Given the description of an element on the screen output the (x, y) to click on. 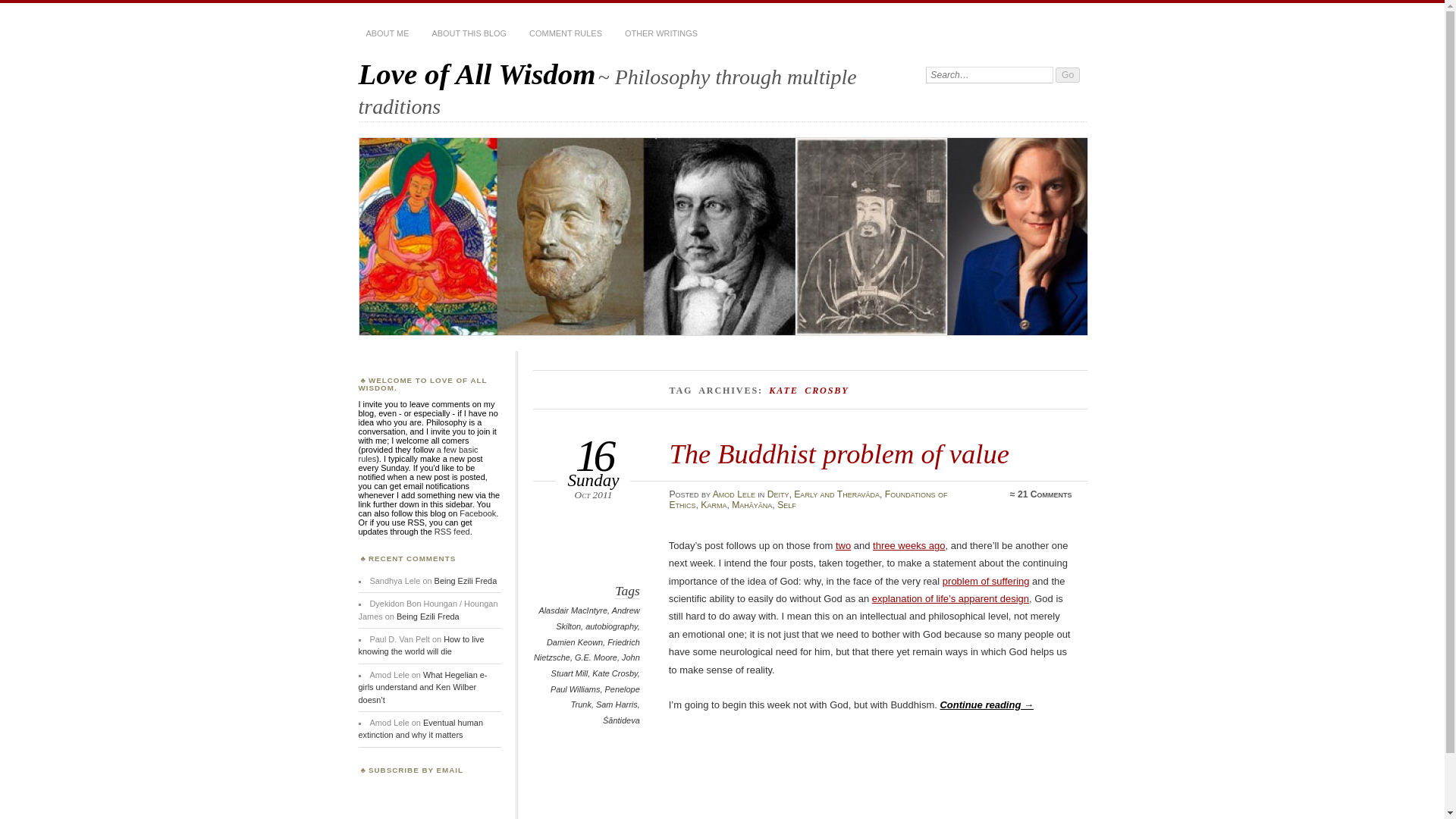
Damien Keown (574, 642)
two (842, 545)
Deity (778, 493)
View all posts by Amod Lele (734, 493)
How to live knowing the world will die (420, 645)
G.E. Moore (596, 656)
RSS feed (451, 531)
Karma (713, 504)
Being Ezili Freda (428, 614)
autobiography (611, 625)
